Given the description of an element on the screen output the (x, y) to click on. 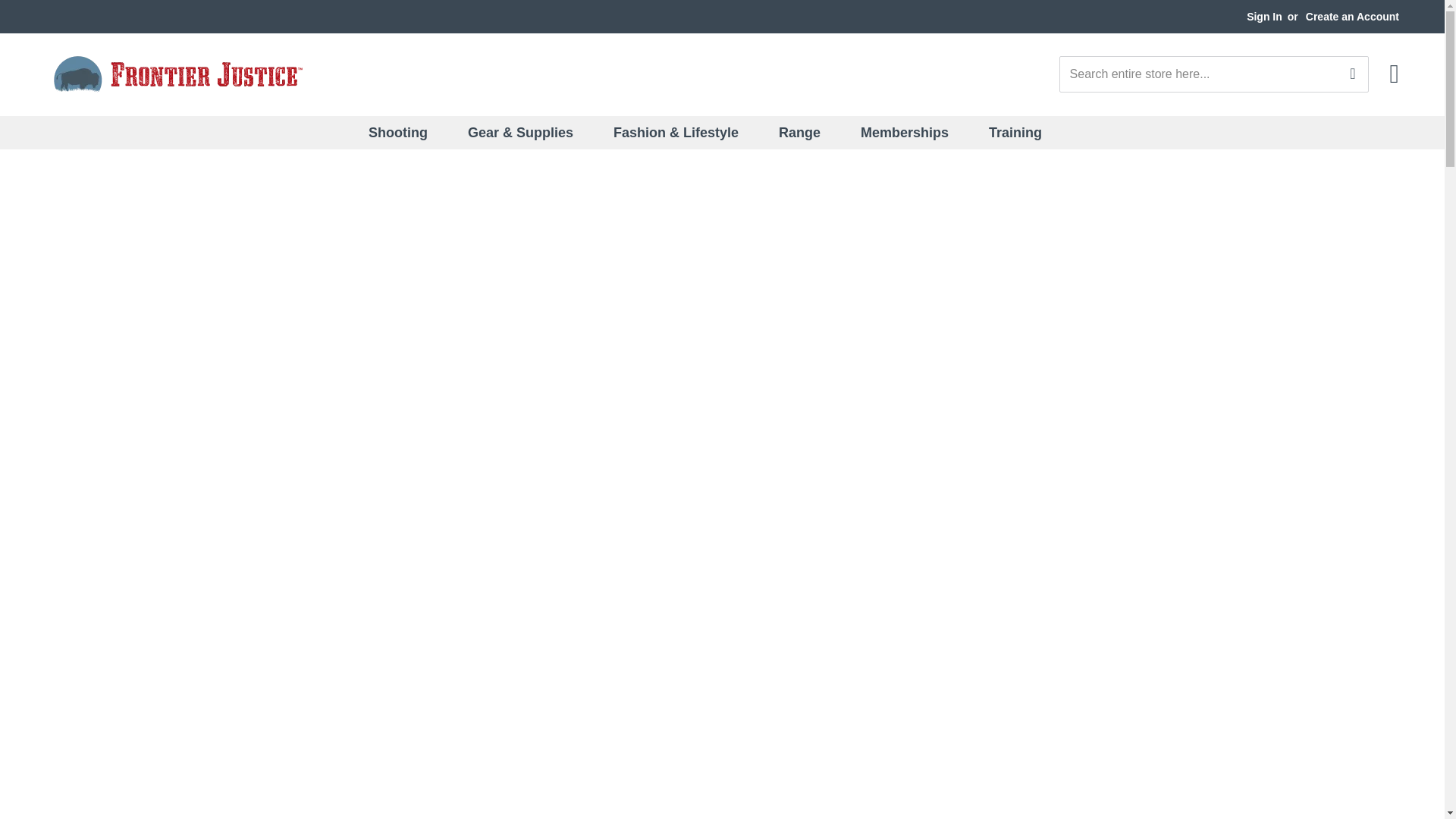
Search (1351, 73)
Sign In (1264, 16)
Create an Account (1352, 16)
Shooting (407, 132)
My Cart (1394, 73)
Search (1351, 73)
